Given the description of an element on the screen output the (x, y) to click on. 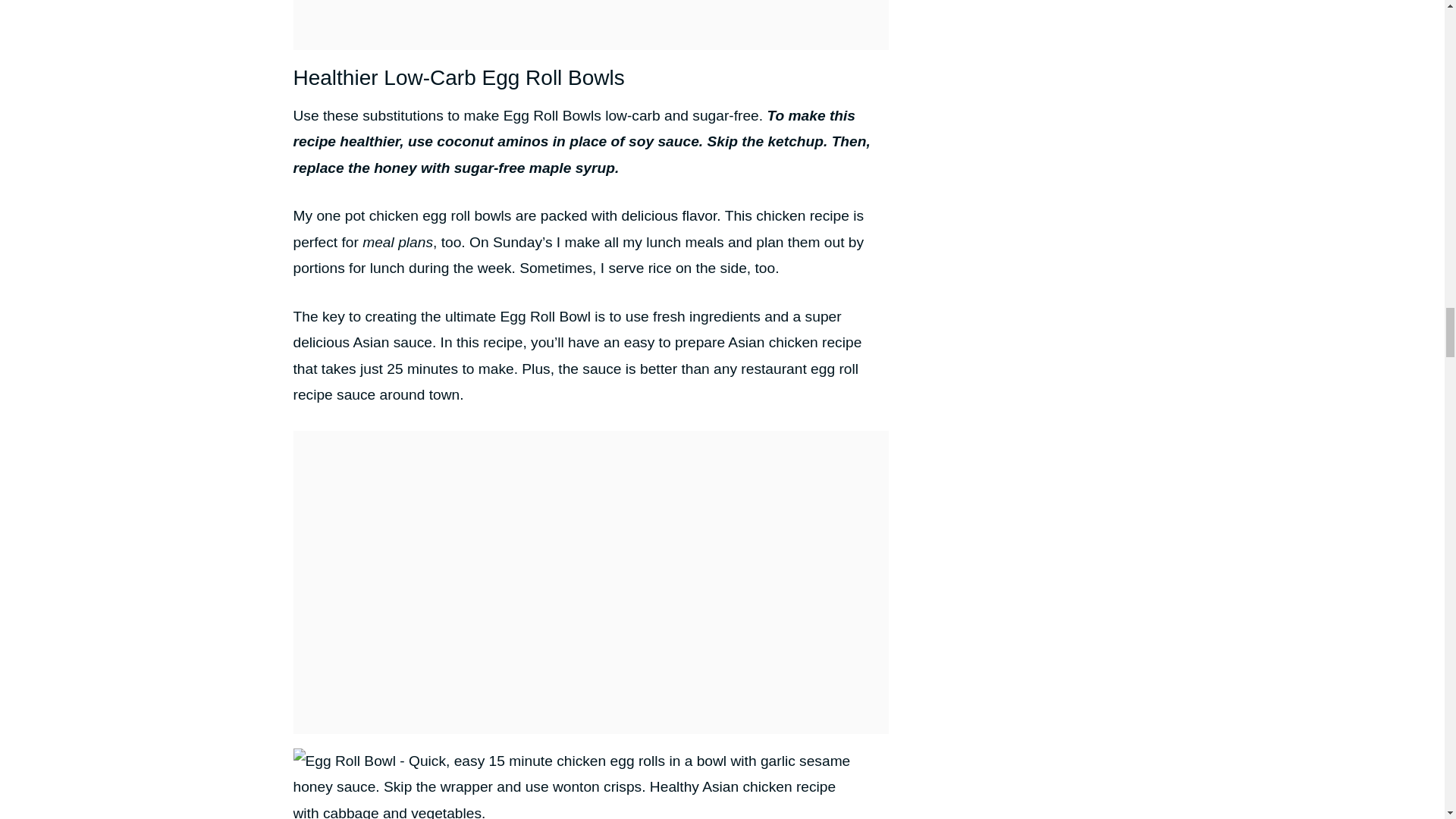
Egg Roll Bowl (574, 783)
